Given the description of an element on the screen output the (x, y) to click on. 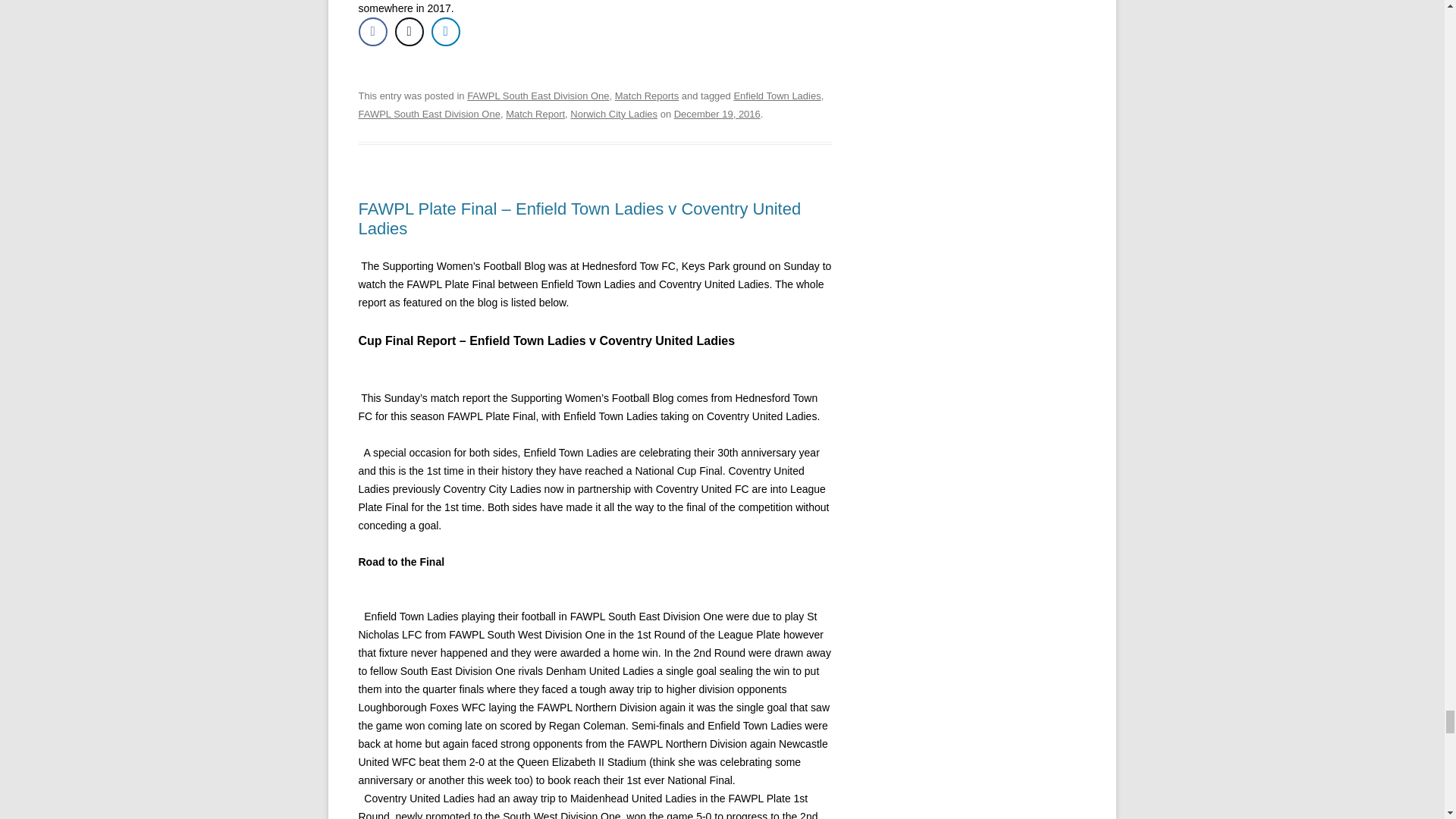
17:41 (717, 113)
